Given the description of an element on the screen output the (x, y) to click on. 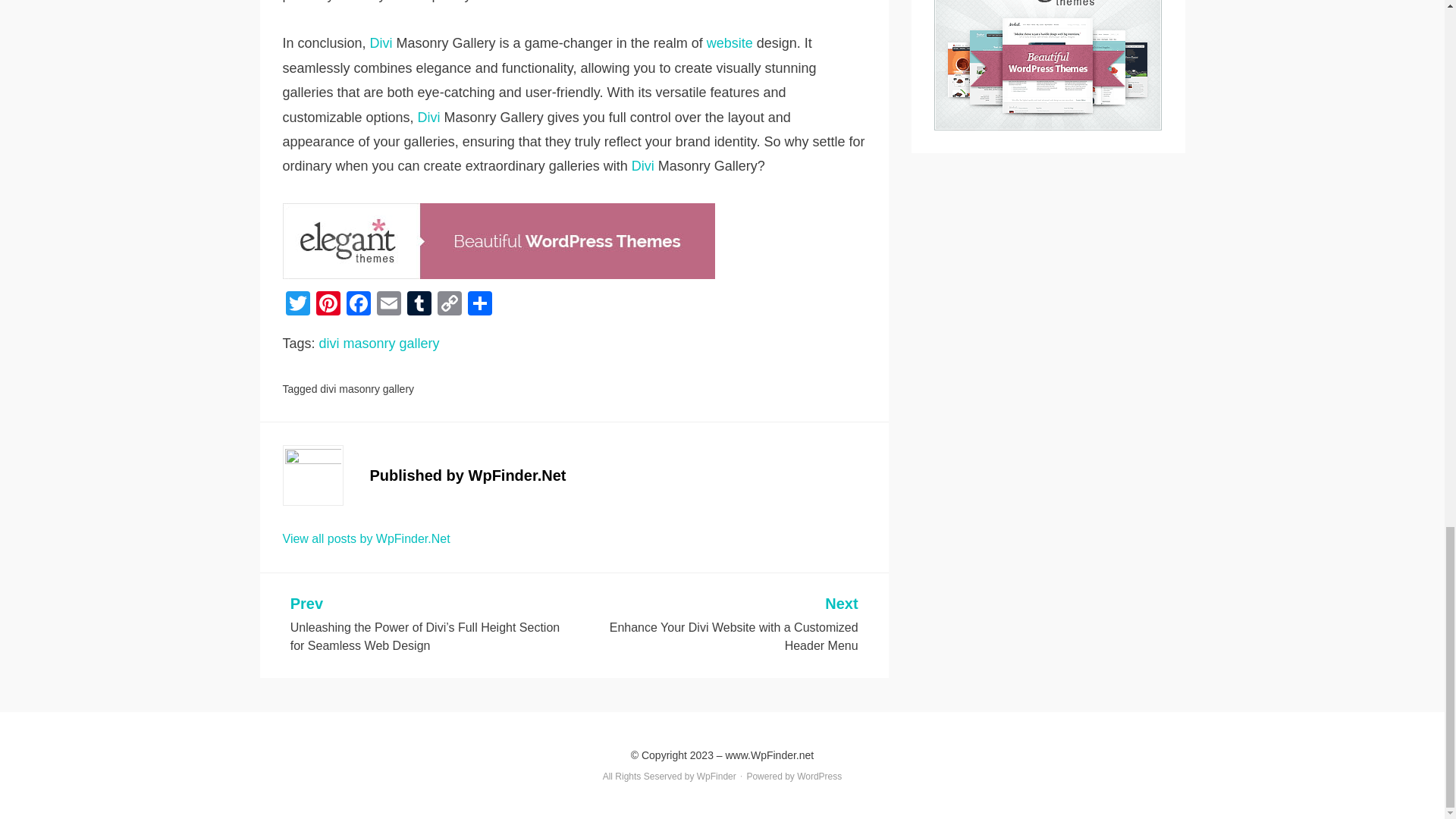
Divi (642, 165)
Divi (381, 43)
Tumblr (418, 305)
Pinterest (327, 305)
Twitter (297, 305)
Email (387, 305)
Facebook (357, 305)
Copy Link (448, 305)
website (729, 43)
Divi (429, 117)
